Given the description of an element on the screen output the (x, y) to click on. 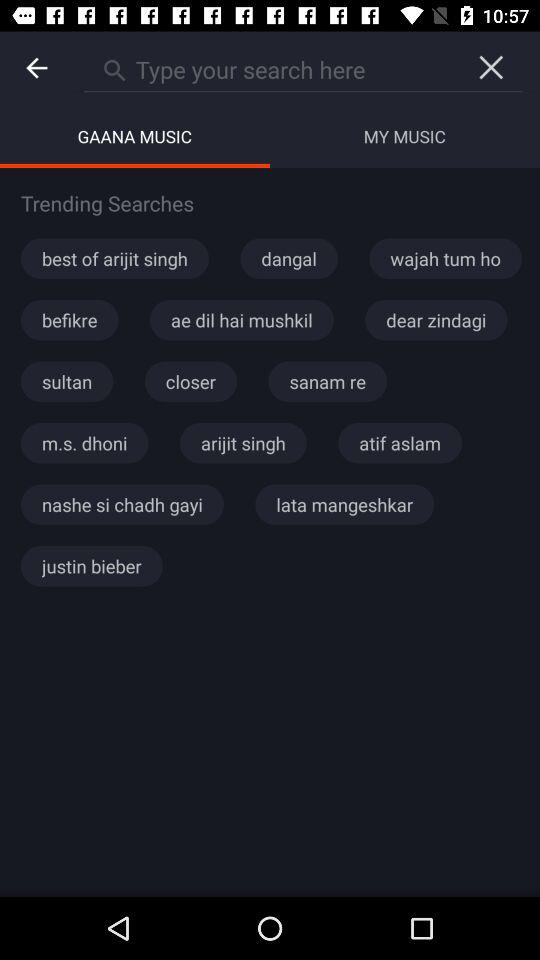
search option (271, 67)
